Given the description of an element on the screen output the (x, y) to click on. 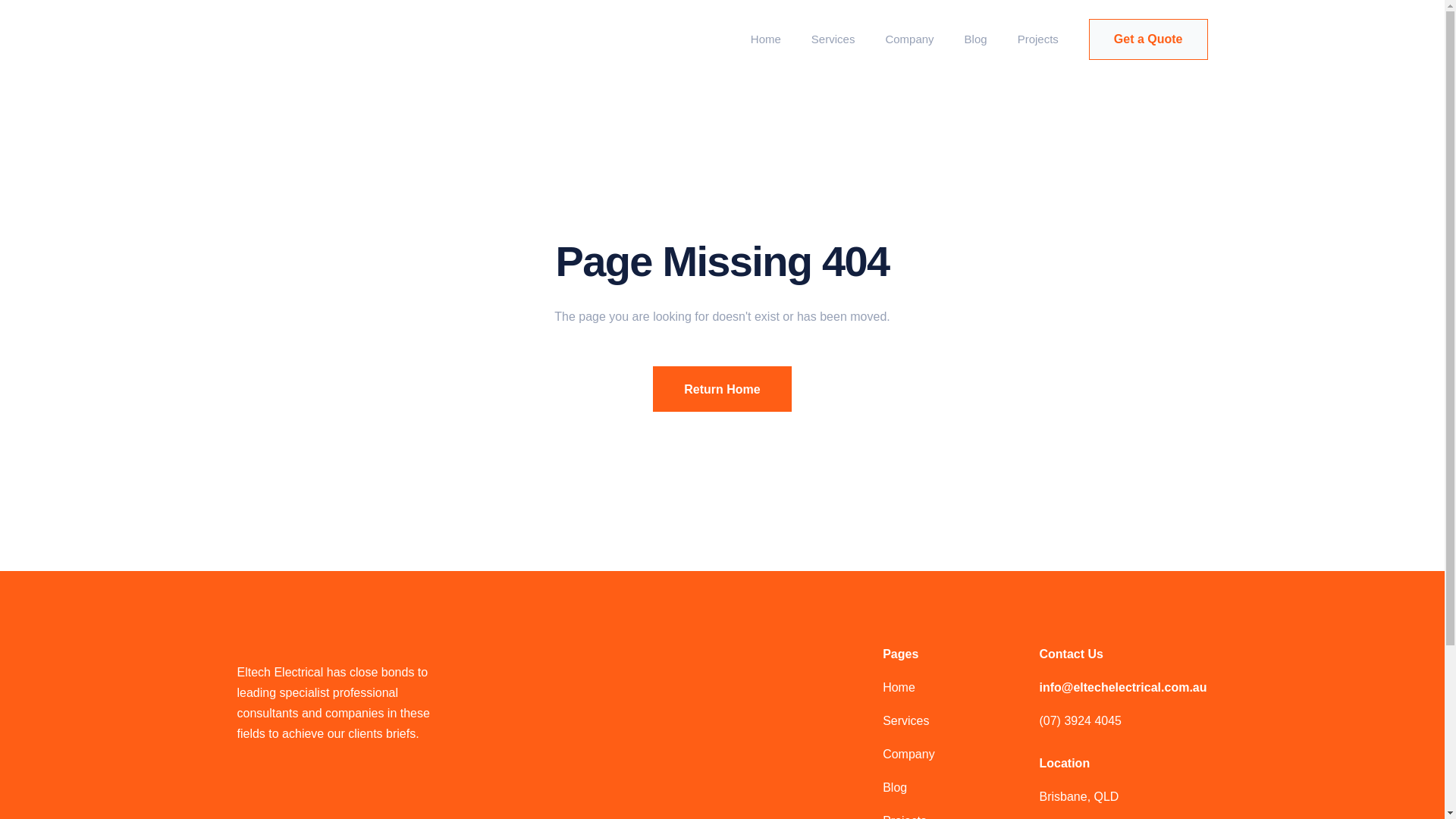
Company Element type: text (908, 753)
Return Home Element type: text (721, 388)
Home Element type: text (898, 686)
(07) 3924 4045 Element type: text (1122, 720)
Company Element type: text (908, 39)
Services Element type: text (833, 39)
Get a Quote Element type: text (1148, 38)
info@eltechelectrical.com.au Element type: text (1122, 686)
Home Element type: text (765, 39)
Projects Element type: text (1037, 39)
Services Element type: text (905, 720)
Blog Element type: text (975, 39)
Blog Element type: text (894, 786)
Brisbane, QLD Element type: text (1078, 795)
